Given the description of an element on the screen output the (x, y) to click on. 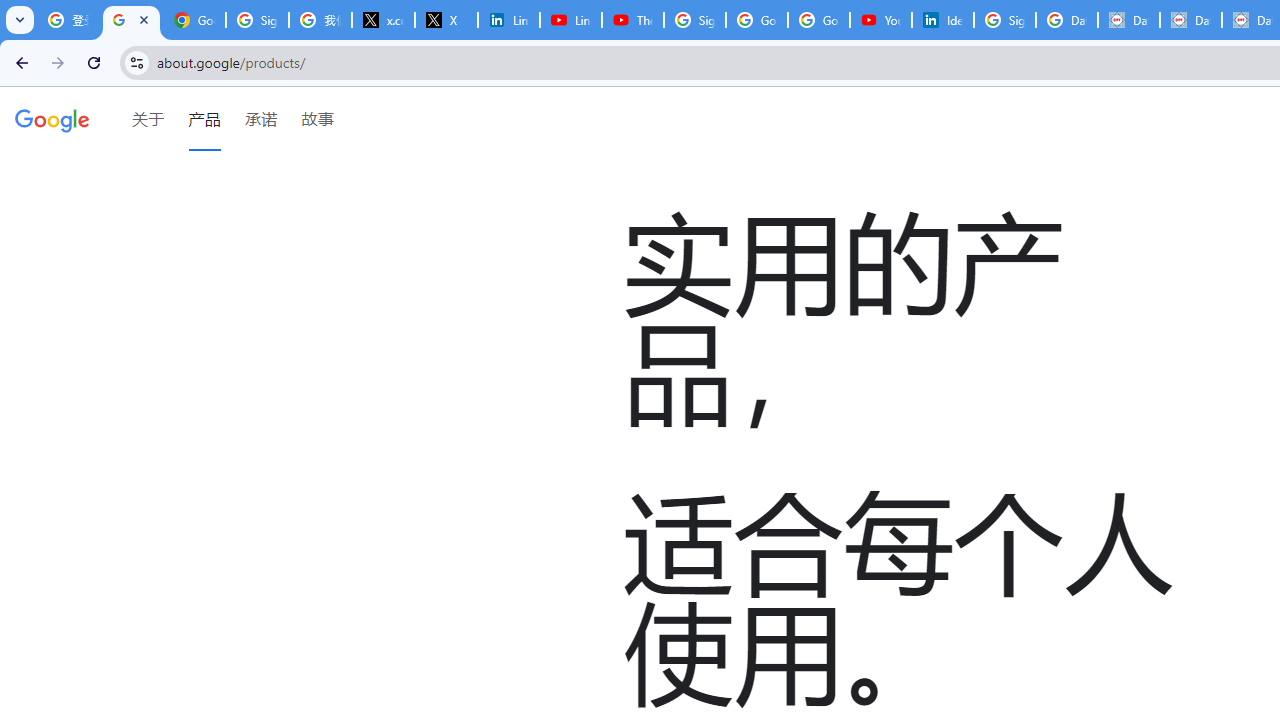
X (445, 20)
LinkedIn - YouTube (570, 20)
Data Privacy Framework (1190, 20)
Data Privacy Framework (1128, 20)
Sign in - Google Accounts (257, 20)
